Given the description of an element on the screen output the (x, y) to click on. 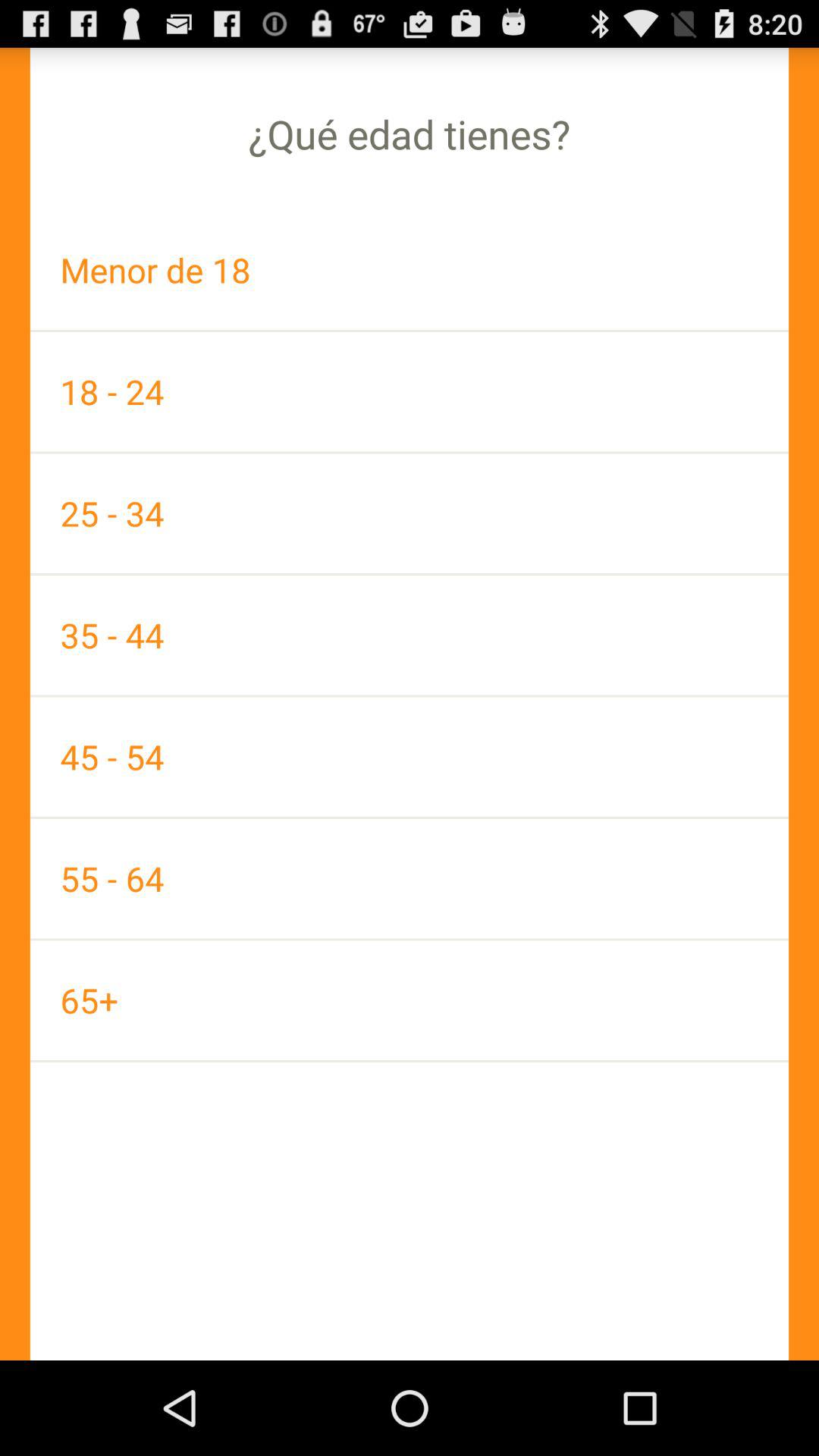
turn on app above the 65+ icon (409, 878)
